Given the description of an element on the screen output the (x, y) to click on. 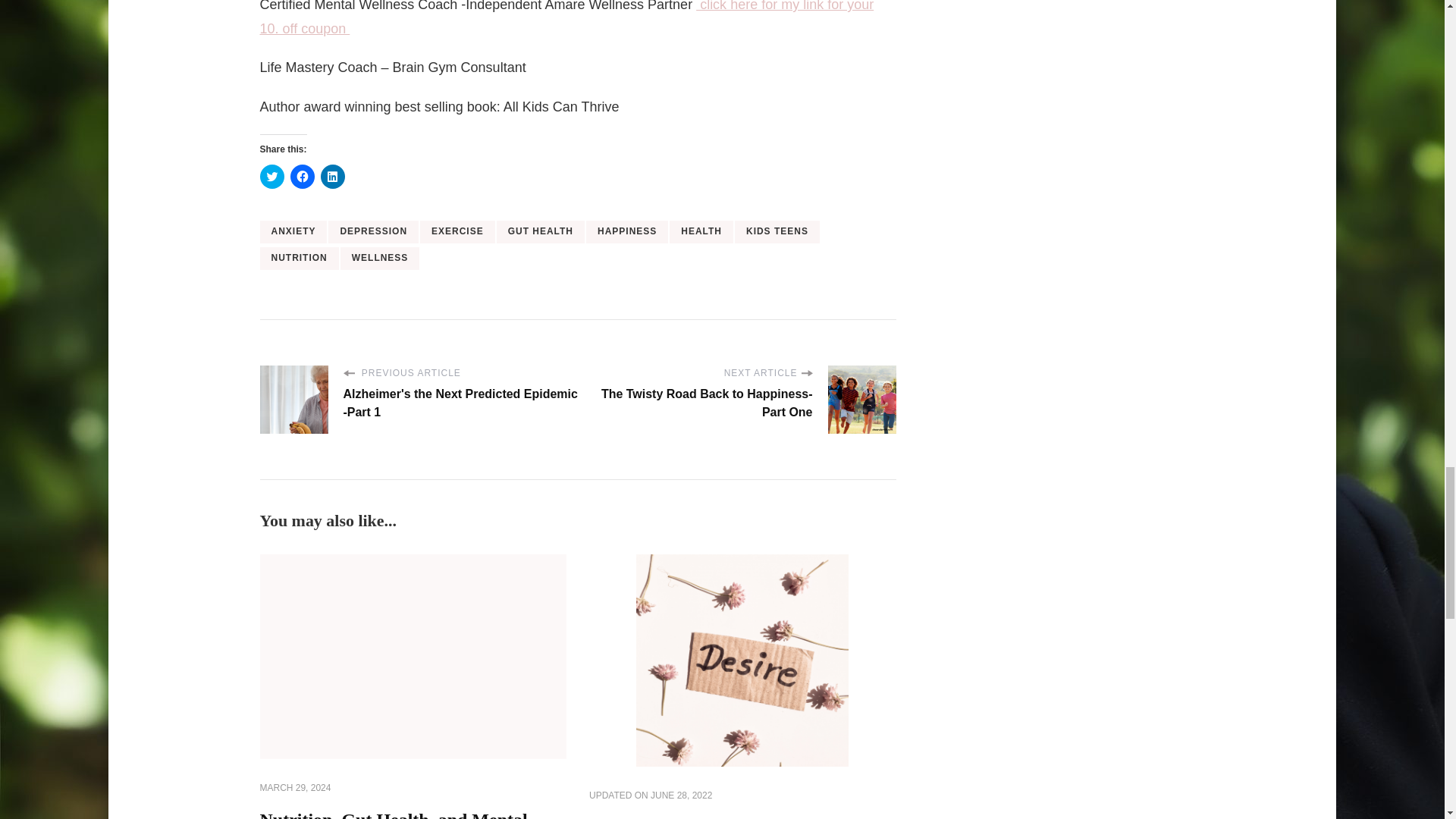
click here for my link for your 10. off coupon  (566, 18)
HAPPINESS (627, 231)
GUT HEALTH (540, 231)
Click to share on LinkedIn (331, 176)
EXERCISE (457, 231)
DEPRESSION (374, 231)
KIDS TEENS (777, 231)
Click to share on Facebook (301, 176)
ANXIETY (292, 231)
NUTRITION (298, 258)
HEALTH (701, 231)
Click to share on Twitter (271, 176)
